Given the description of an element on the screen output the (x, y) to click on. 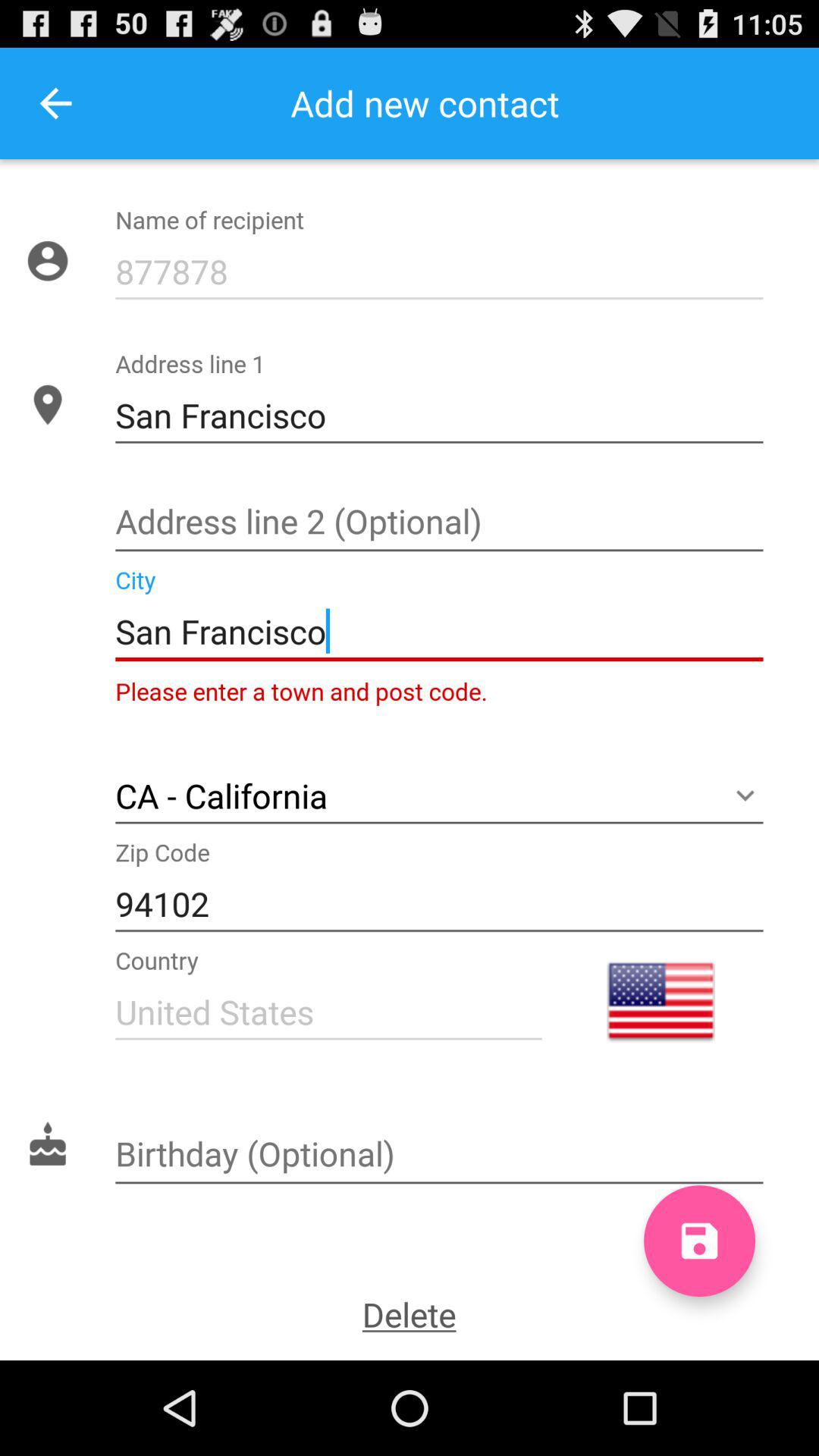
birth date text box (439, 1156)
